Given the description of an element on the screen output the (x, y) to click on. 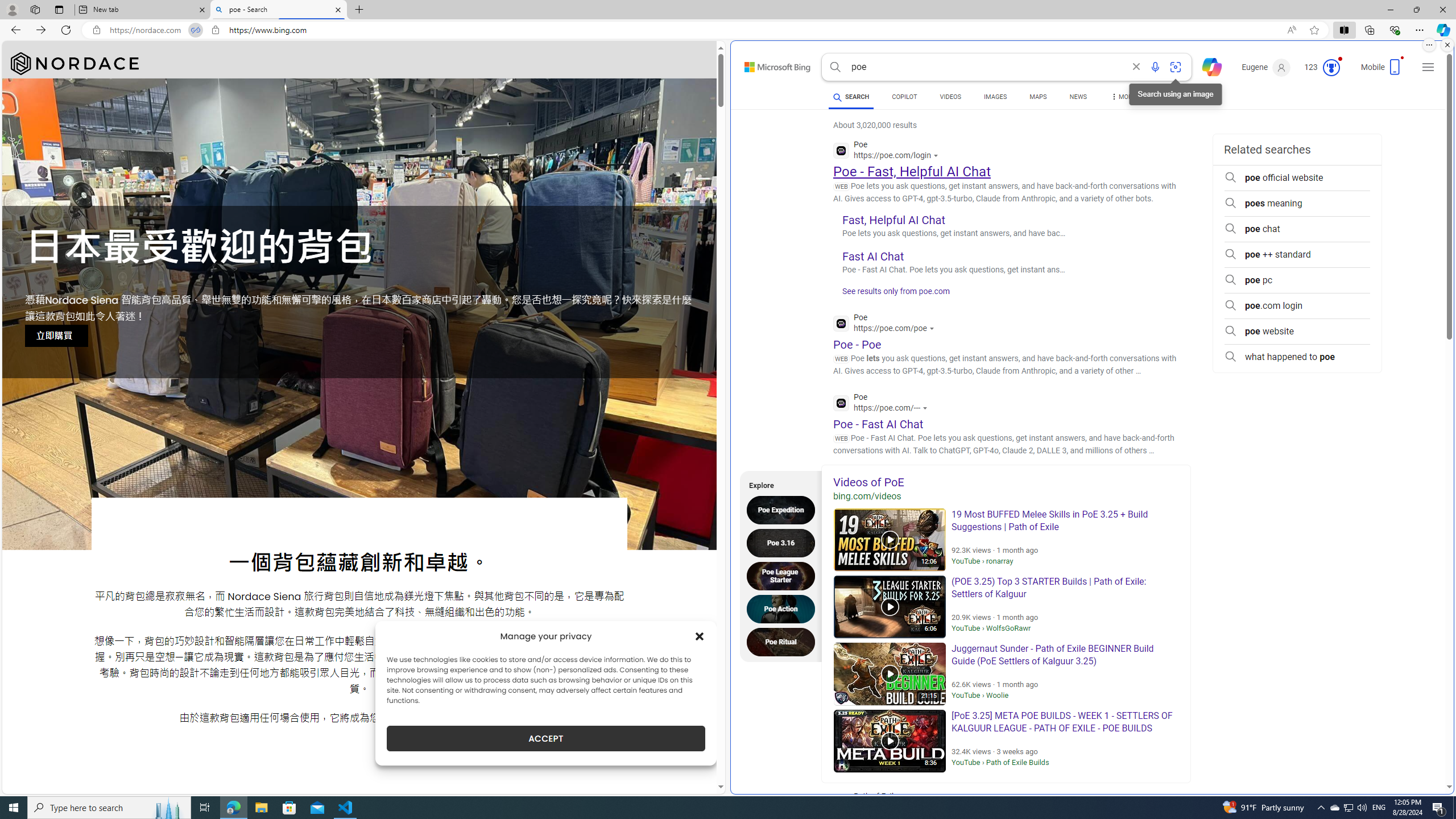
Poe - Fast, Helpful AI Chat (911, 170)
Eugene (1266, 67)
Tabs in split screen (194, 29)
SEARCH (850, 96)
Search using an image (1174, 66)
poe chat (1297, 229)
MAPS (1038, 96)
Chat (1207, 65)
Search button (835, 66)
